Given the description of an element on the screen output the (x, y) to click on. 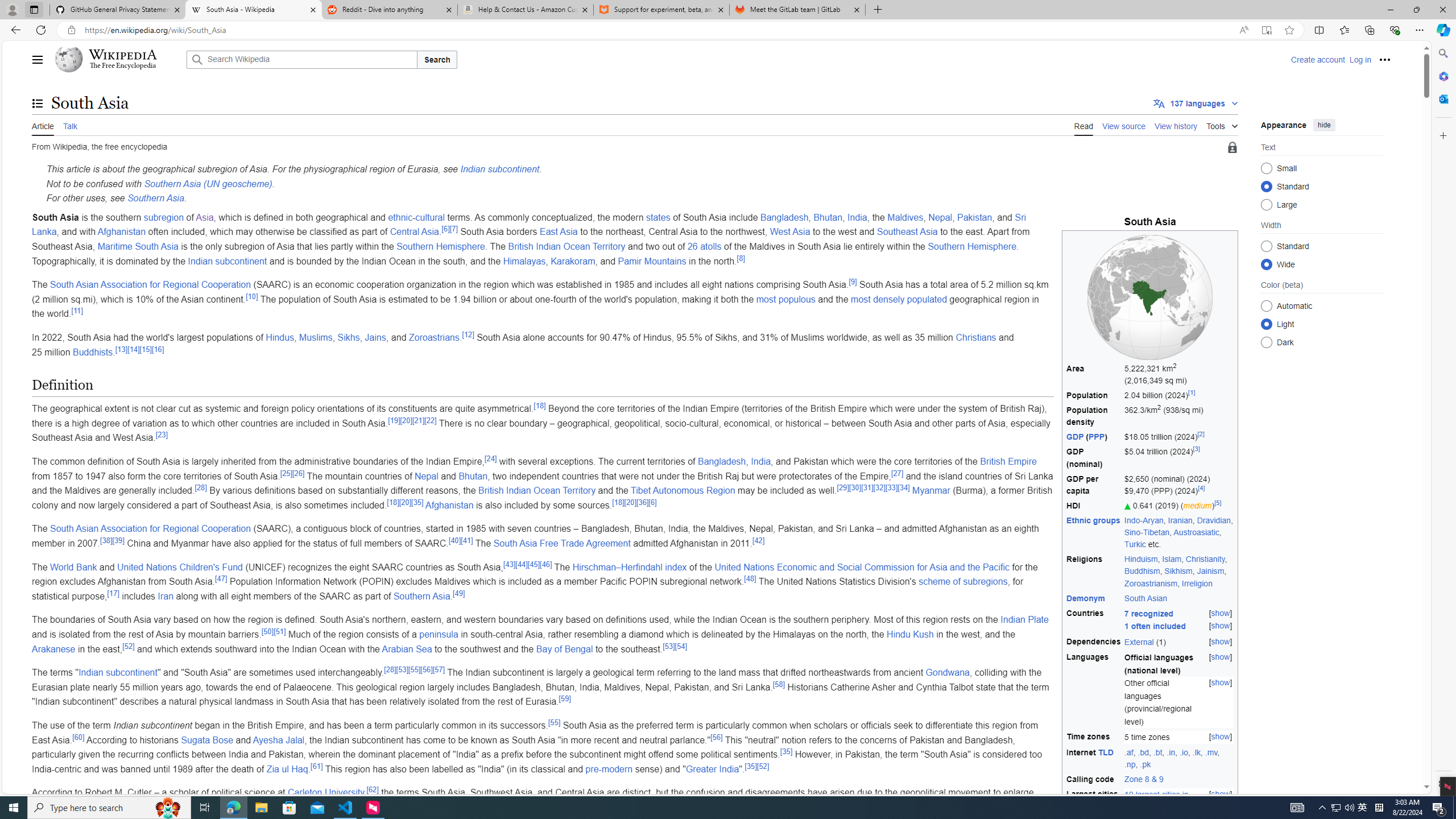
[25] (285, 472)
South Asian Association for Regional Cooperation (150, 528)
[35] (750, 765)
$5.04 trillion (2024)[3] (1179, 457)
View source (1123, 124)
[17] (112, 592)
[34] (903, 487)
[4] (1201, 488)
[show] 7 recognized [show] 1 often included (1179, 619)
Maldives (904, 217)
GDP (1074, 437)
Wide (1266, 263)
[27] (897, 472)
Pakistan (974, 217)
